Given the description of an element on the screen output the (x, y) to click on. 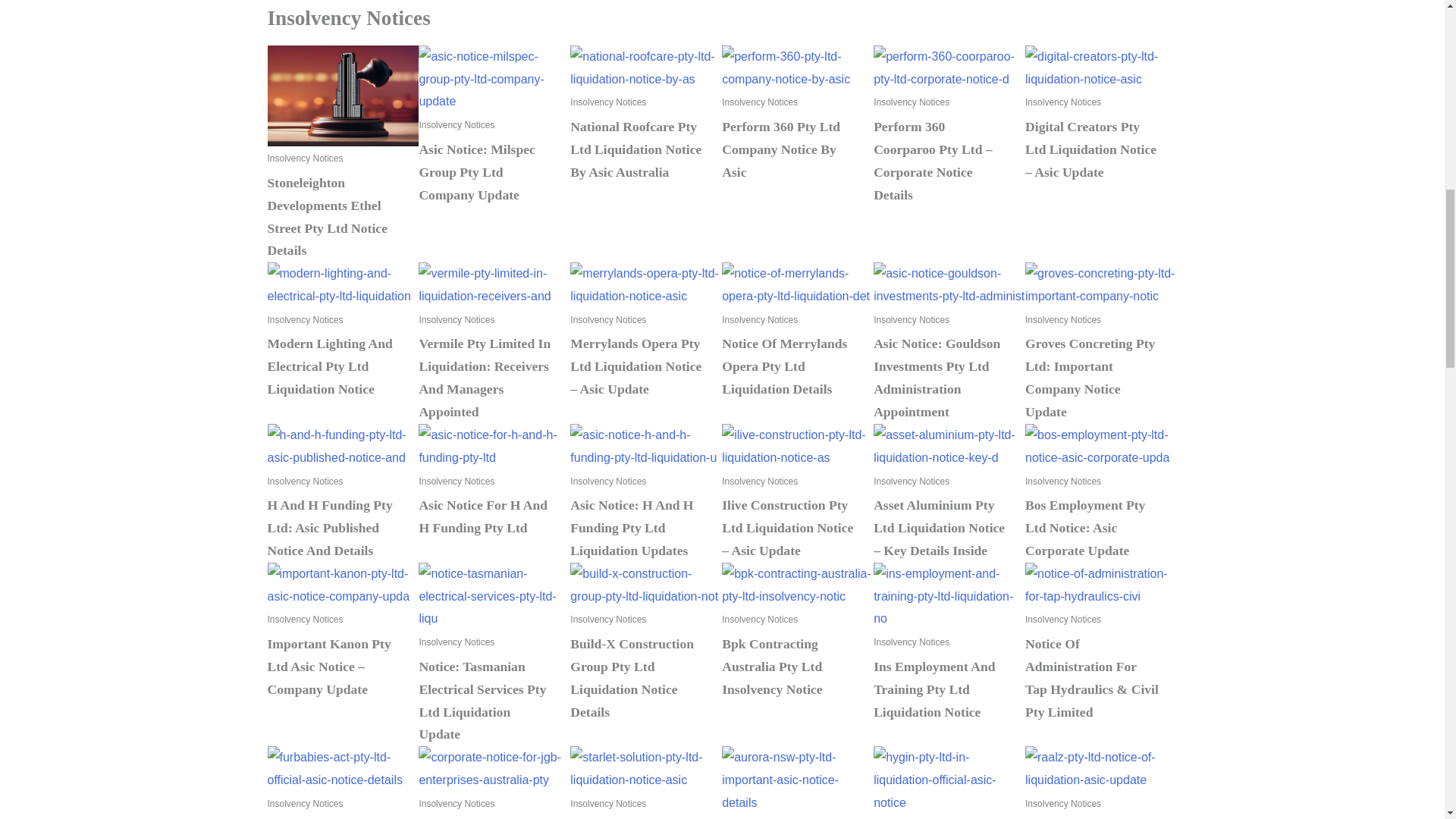
Modern Lighting And Electrical Pty Ltd Liquidation Notice (342, 283)
Perform 360 Pty Ltd Company Notice By Asic (781, 148)
Asic Notice: Milspec Group Pty Ltd Company Update (476, 171)
Notice Of Merrylands Opera Pty Ltd Liquidation Details (797, 283)
Perform 360 Pty Ltd Company Notice By Asic (797, 66)
Asic Notice: Milspec Group Pty Ltd Company Update (494, 78)
Groves Concreting Pty Ltd: Important Company Notice Update (1100, 283)
